Given the description of an element on the screen output the (x, y) to click on. 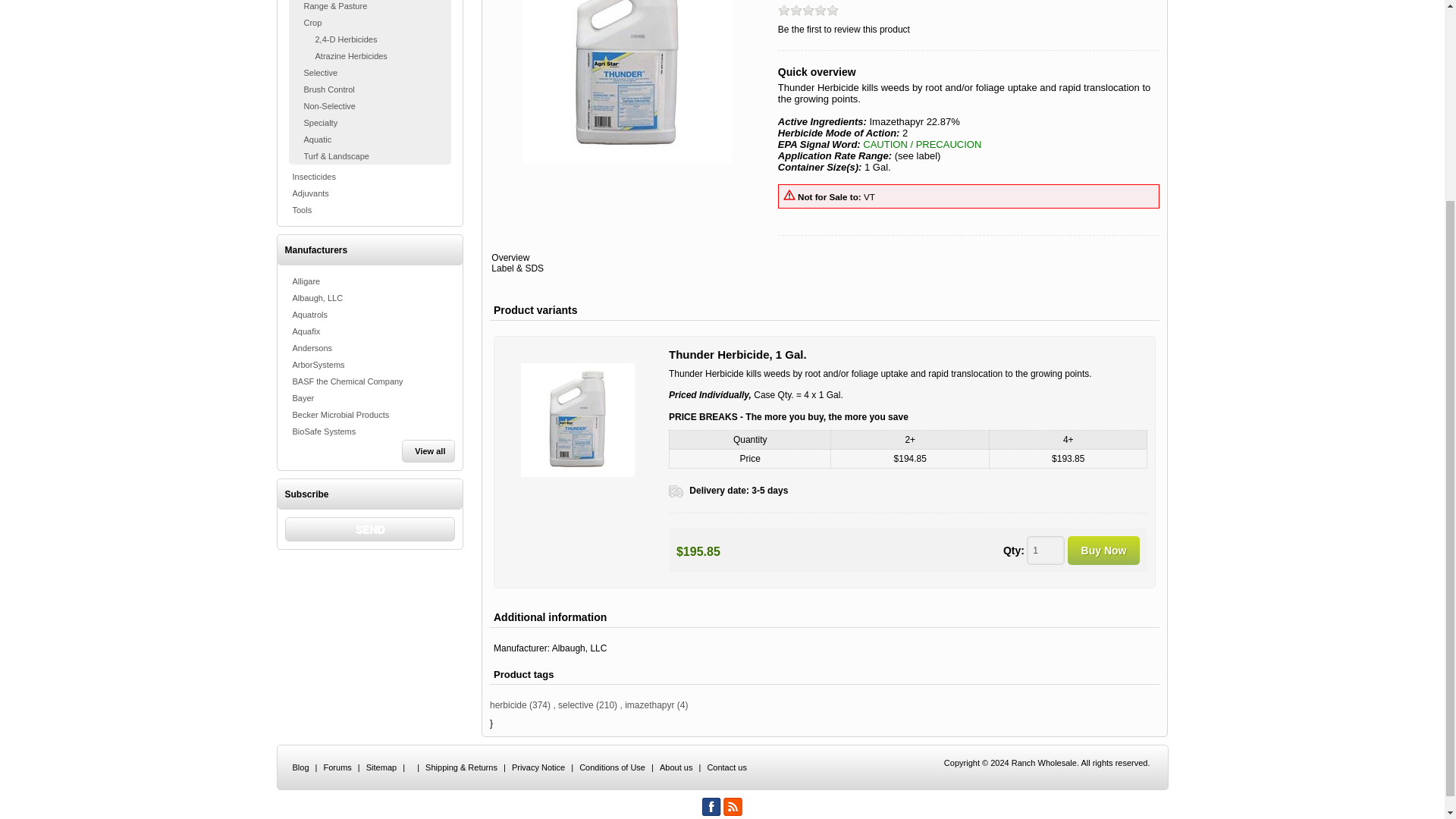
Send (370, 528)
Thunder Herbicide, 1 Gal., Albaugh (577, 419)
1 (1045, 550)
Buy Now (1103, 550)
